Given the description of an element on the screen output the (x, y) to click on. 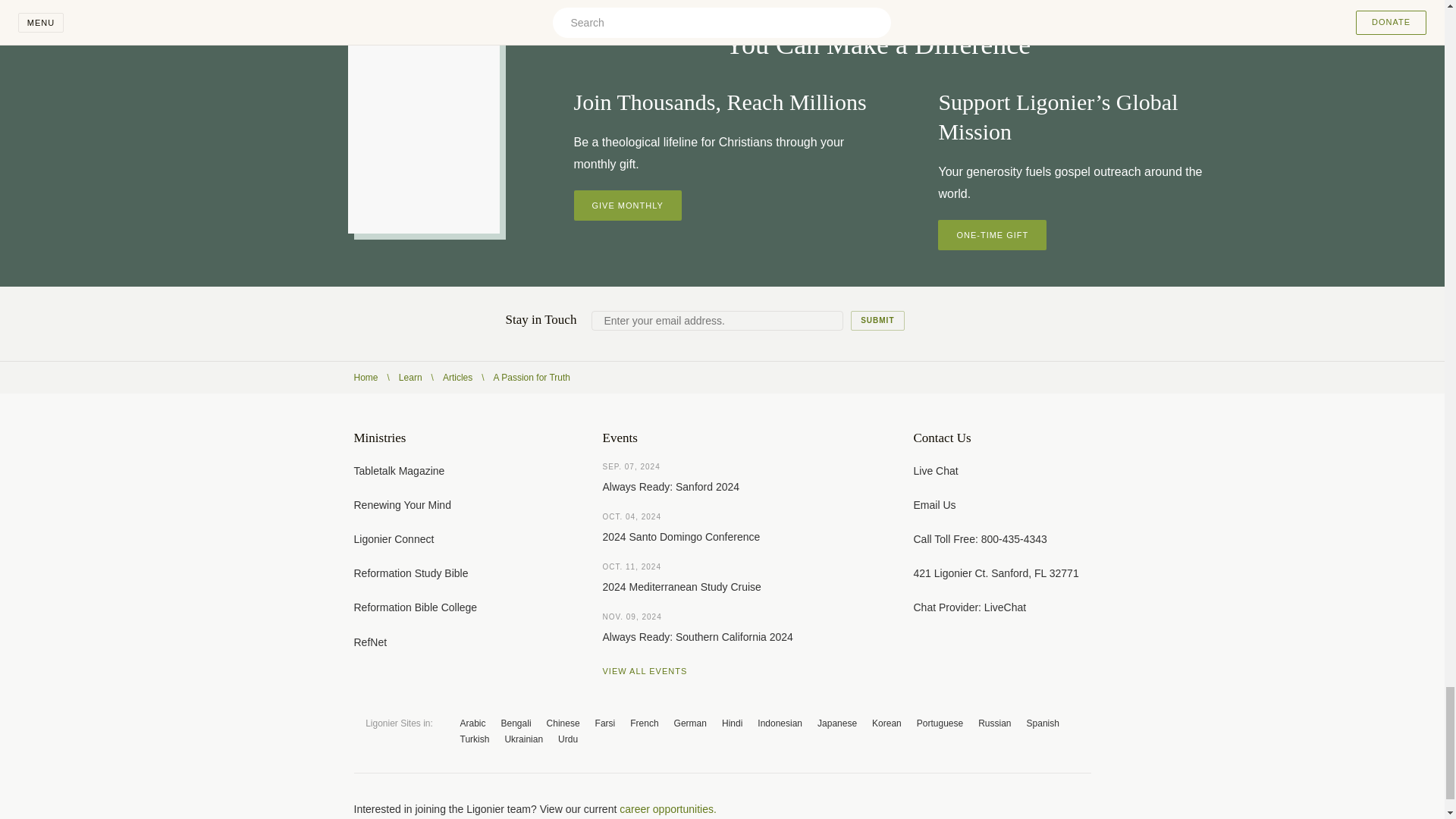
X (993, 808)
Instagram (1053, 808)
YouTube (1023, 808)
Facebook (962, 808)
Linkedin (1083, 808)
